Given the description of an element on the screen output the (x, y) to click on. 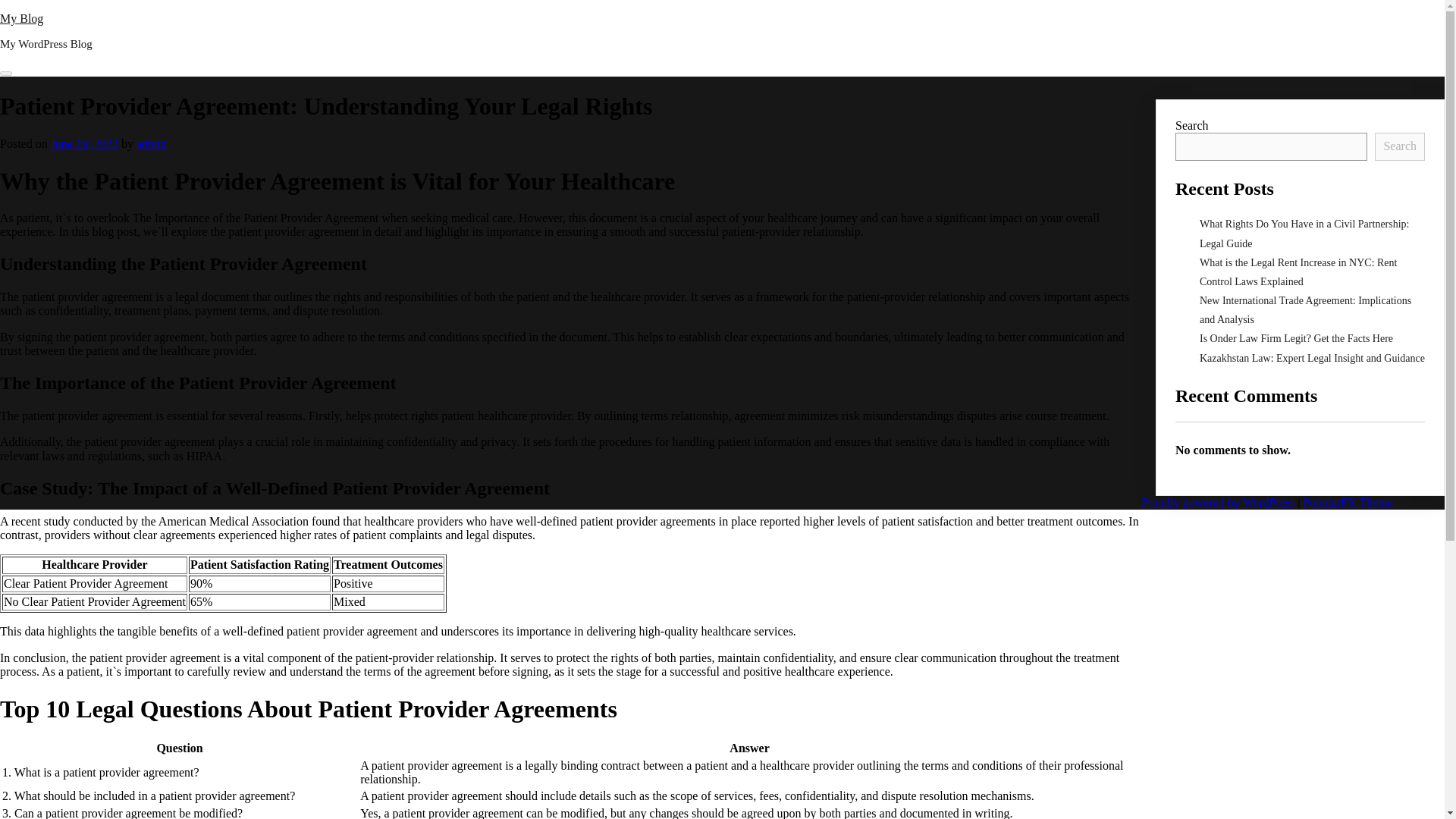
Proudly powered by WordPress (1219, 502)
June 19, 2022 (83, 143)
Is Onder Law Firm Legit? Get the Facts Here (1296, 337)
PopularFX Theme (1348, 502)
What Rights Do You Have in a Civil Partnership: Legal Guide (1304, 233)
New International Trade Agreement: Implications and Analysis (1304, 309)
admin (151, 143)
Search (1399, 145)
My Blog (21, 18)
